Given the description of an element on the screen output the (x, y) to click on. 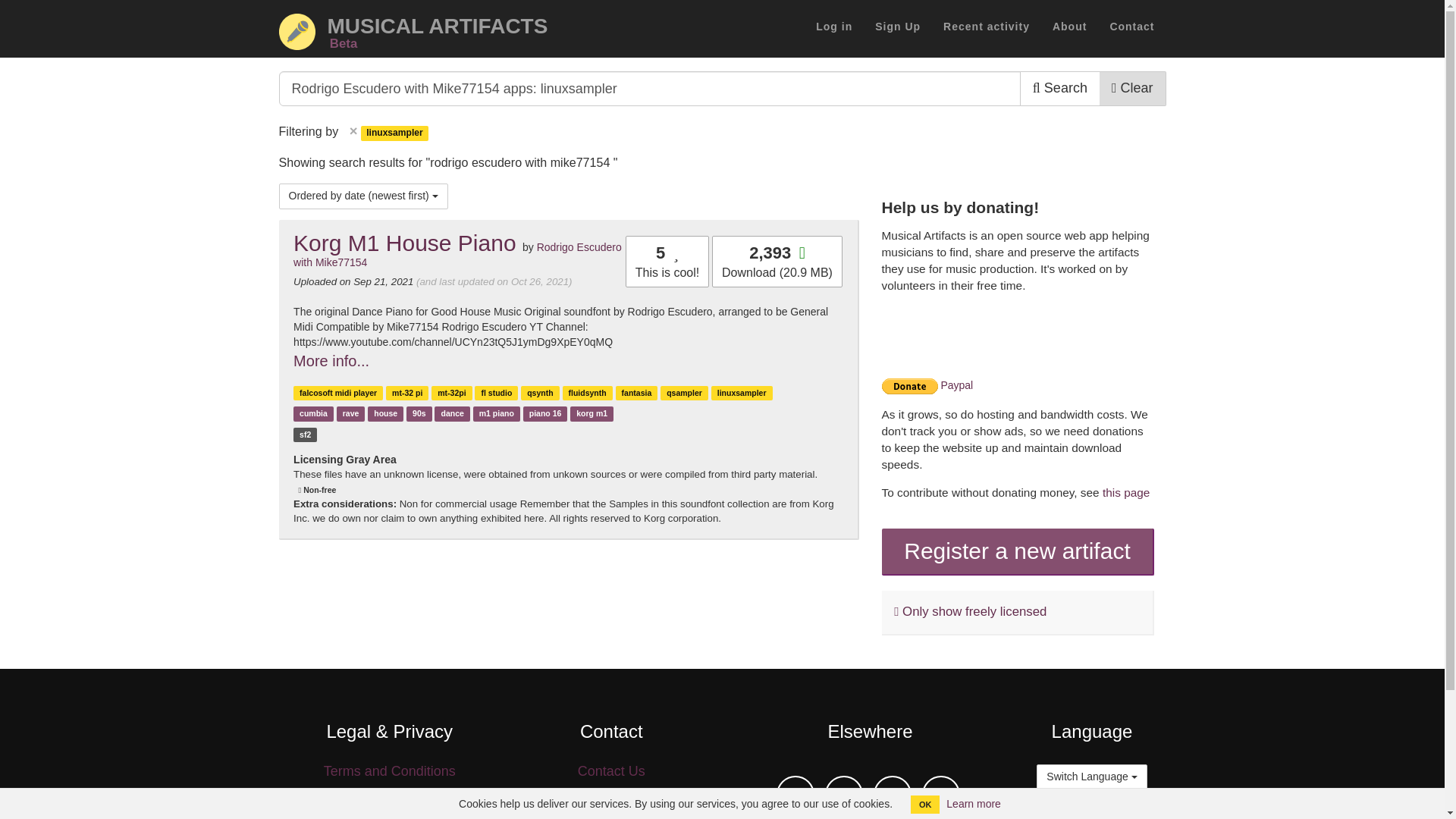
fantasia (636, 392)
Log in (834, 26)
Clear (419, 28)
Search (1132, 88)
Twitter (1060, 88)
fluidsynth (843, 793)
mt-32 pi (588, 392)
90s (406, 392)
Learn more (419, 412)
